Given the description of an element on the screen output the (x, y) to click on. 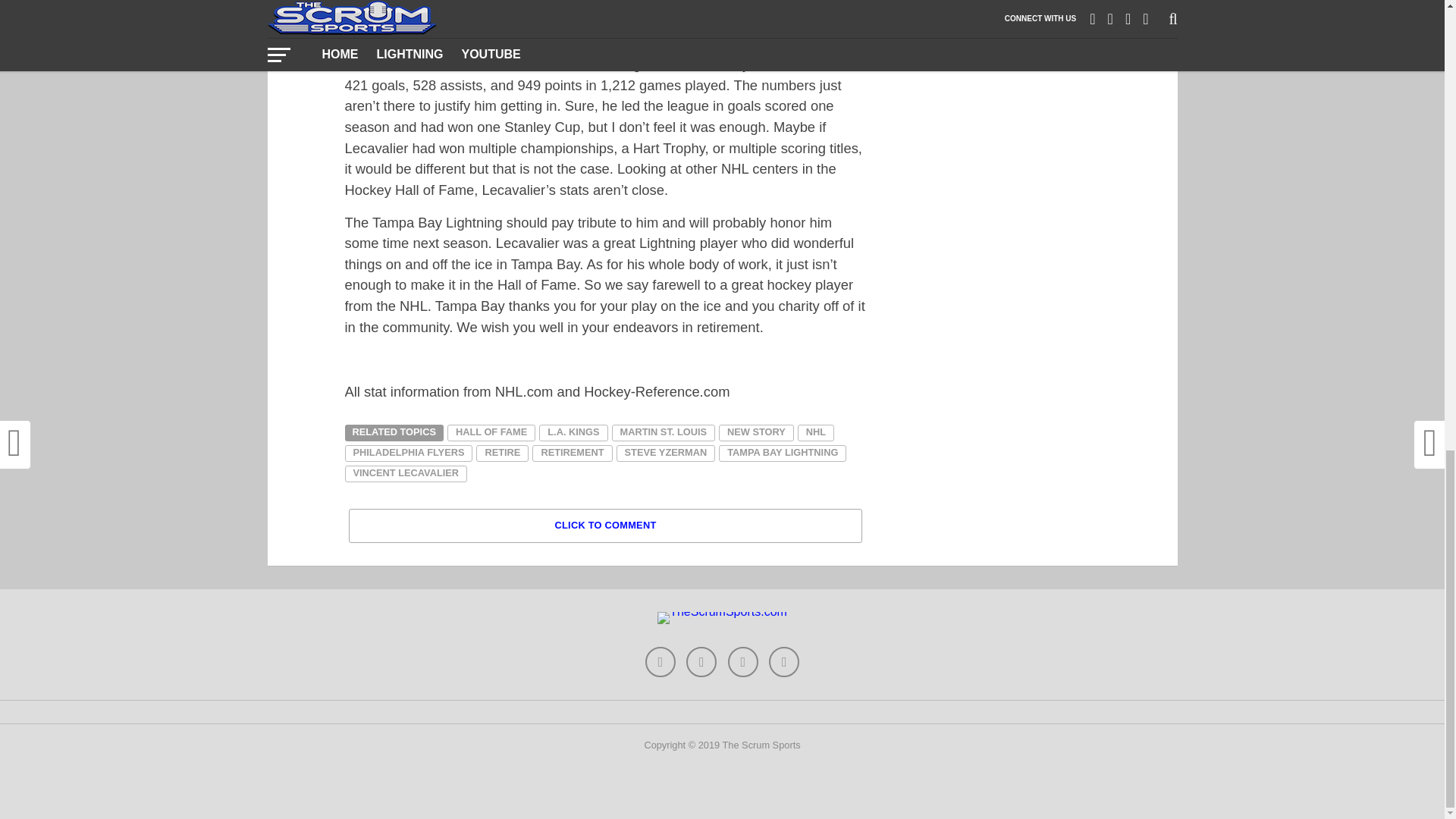
NEW STORY (756, 433)
NHL (815, 433)
VINCENT LECAVALIER (405, 474)
PHILADELPHIA FLYERS (407, 453)
STEVE YZERMAN (665, 453)
TAMPA BAY LIGHTNING (782, 453)
MARTIN ST. LOUIS (662, 433)
L.A. KINGS (572, 433)
RETIRE (502, 453)
RETIREMENT (571, 453)
HALL OF FAME (490, 433)
